Given the description of an element on the screen output the (x, y) to click on. 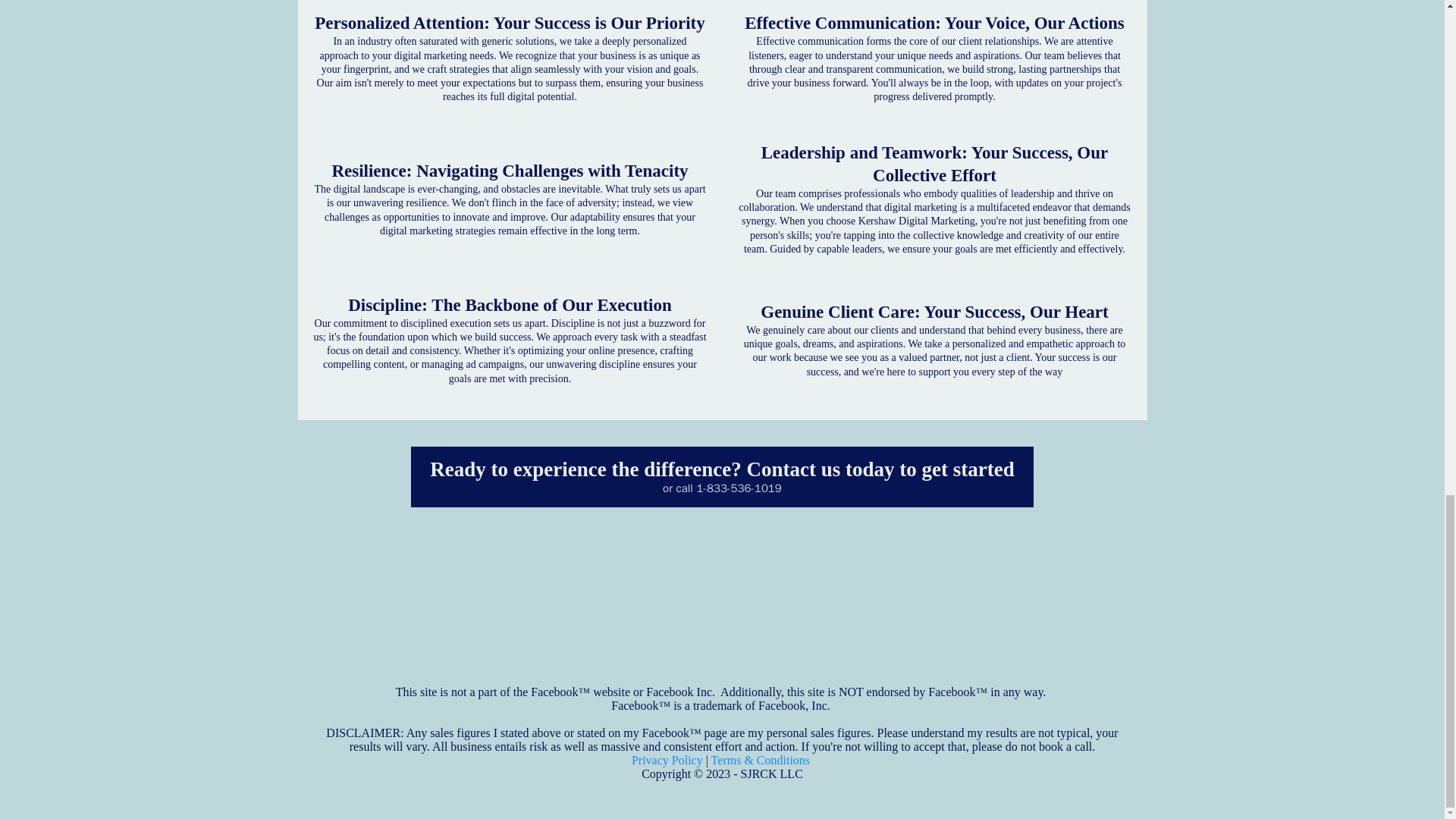
Privacy Policy (667, 759)
